Given the description of an element on the screen output the (x, y) to click on. 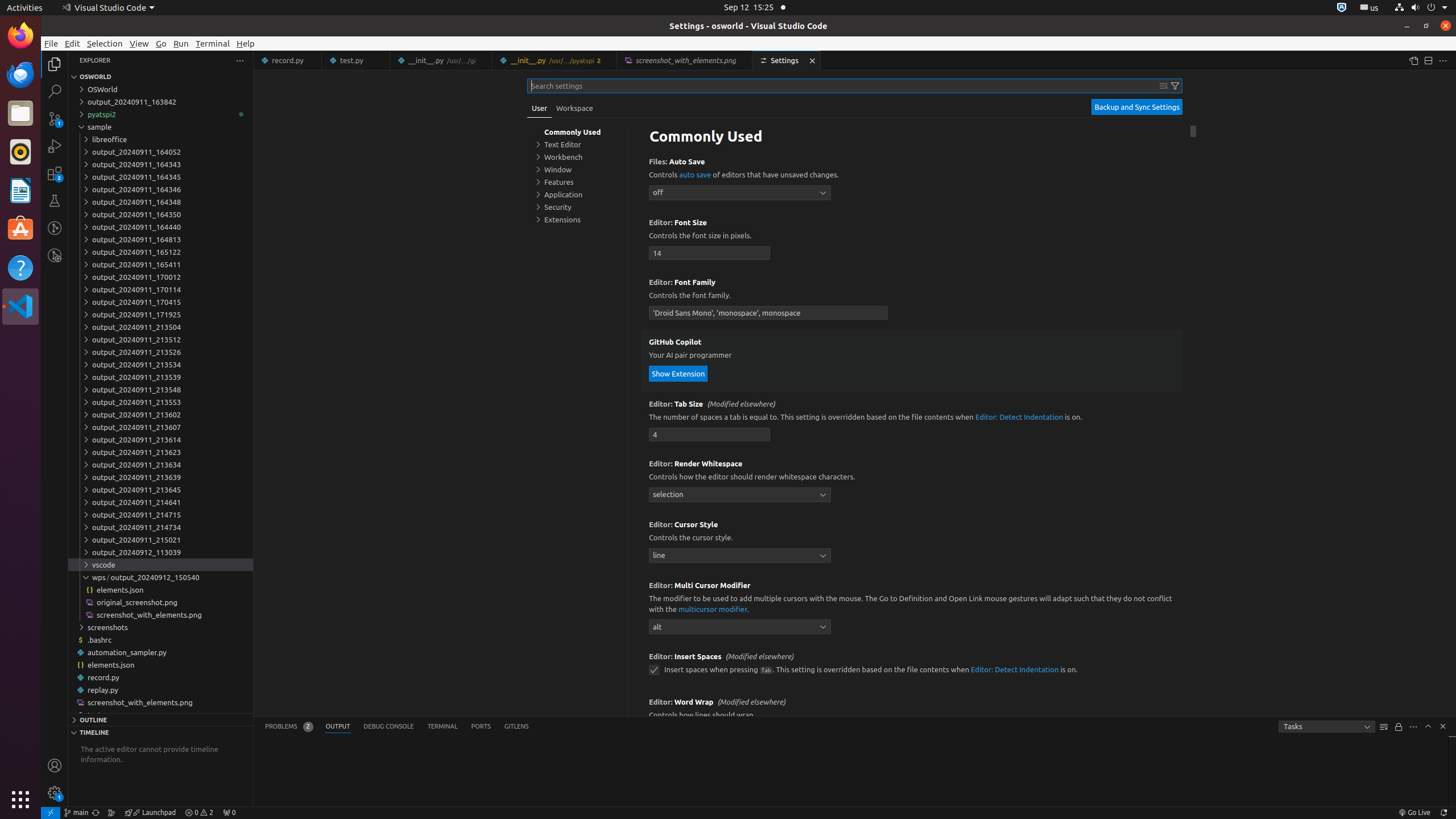
OSWorld (Git) - Synchronize Changes Element type: push-button (95, 812)
Active View Switcher Element type: page-tab-list (396, 726)
output_20240912_113039 Element type: tree-item (160, 552)
Output (Ctrl+K Ctrl+H) Element type: page-tab (337, 726)
screenshot_with_elements.png Element type: tree-item (160, 702)
